Given the description of an element on the screen output the (x, y) to click on. 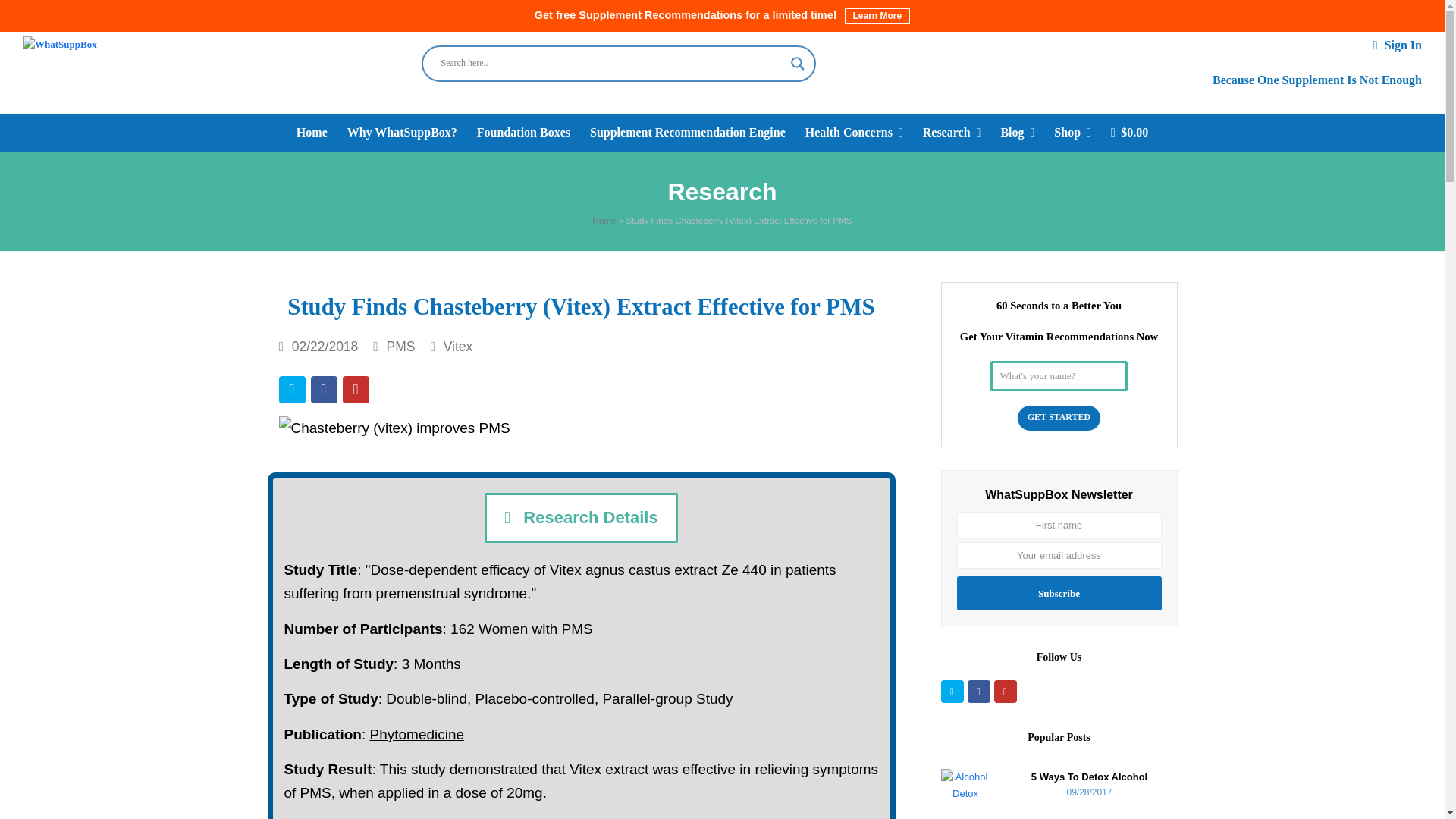
Youtube (1004, 691)
Home (311, 132)
Twitter (951, 691)
Why WhatSuppBox? (402, 132)
5 Ways To Detox Alcohol (965, 793)
Foundation Boxes (523, 132)
Learn More (877, 15)
Facebook (979, 691)
Sign In (1403, 44)
Health Concerns (853, 132)
Supplement Recommendation Engine (686, 132)
